Given the description of an element on the screen output the (x, y) to click on. 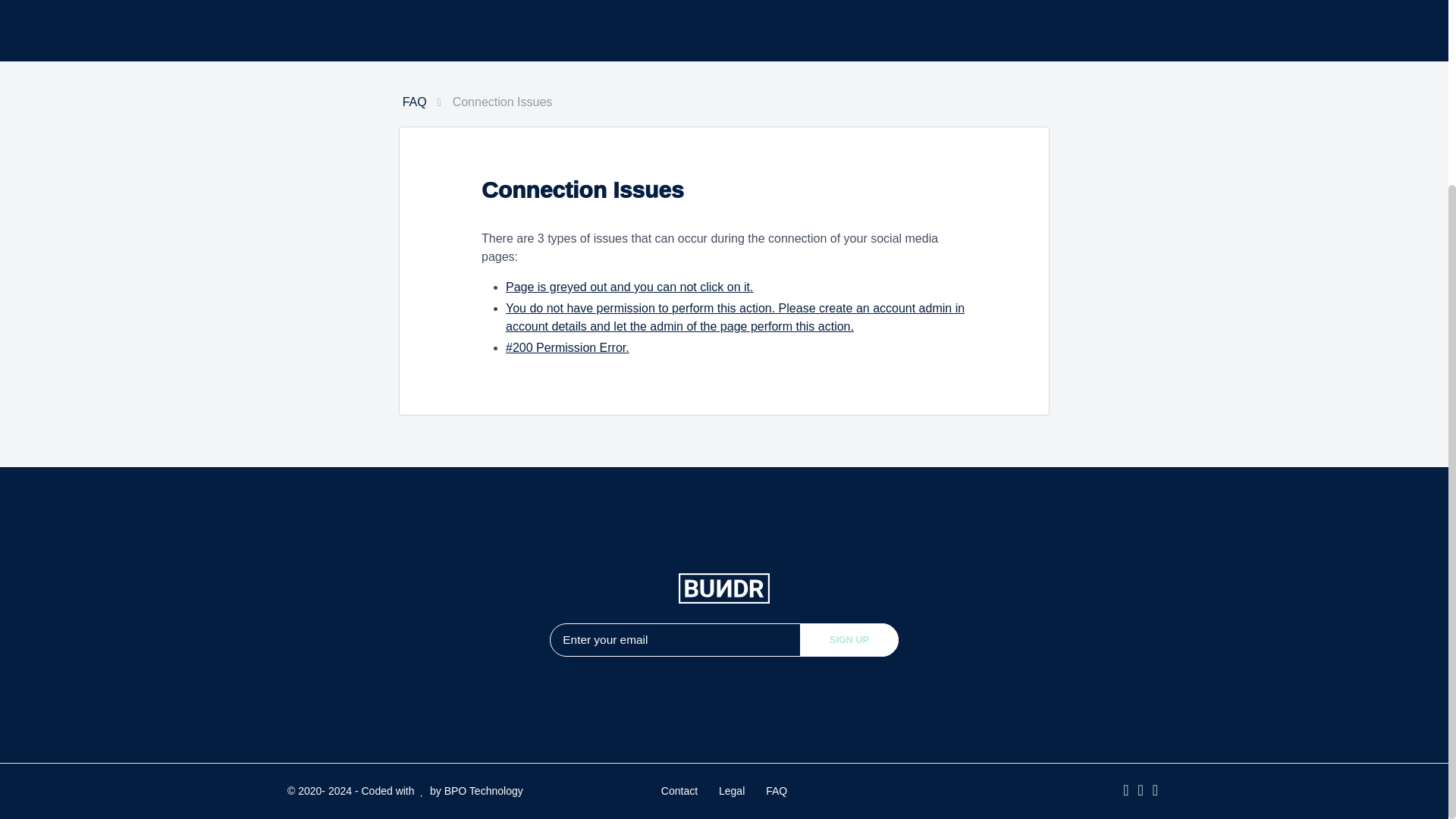
FAQ (414, 101)
Contact (679, 790)
FAQ (776, 790)
SIGN UP (848, 639)
Legal (731, 790)
Page is greyed out and you can not click on it. (628, 286)
BPO Technology (483, 790)
